Given the description of an element on the screen output the (x, y) to click on. 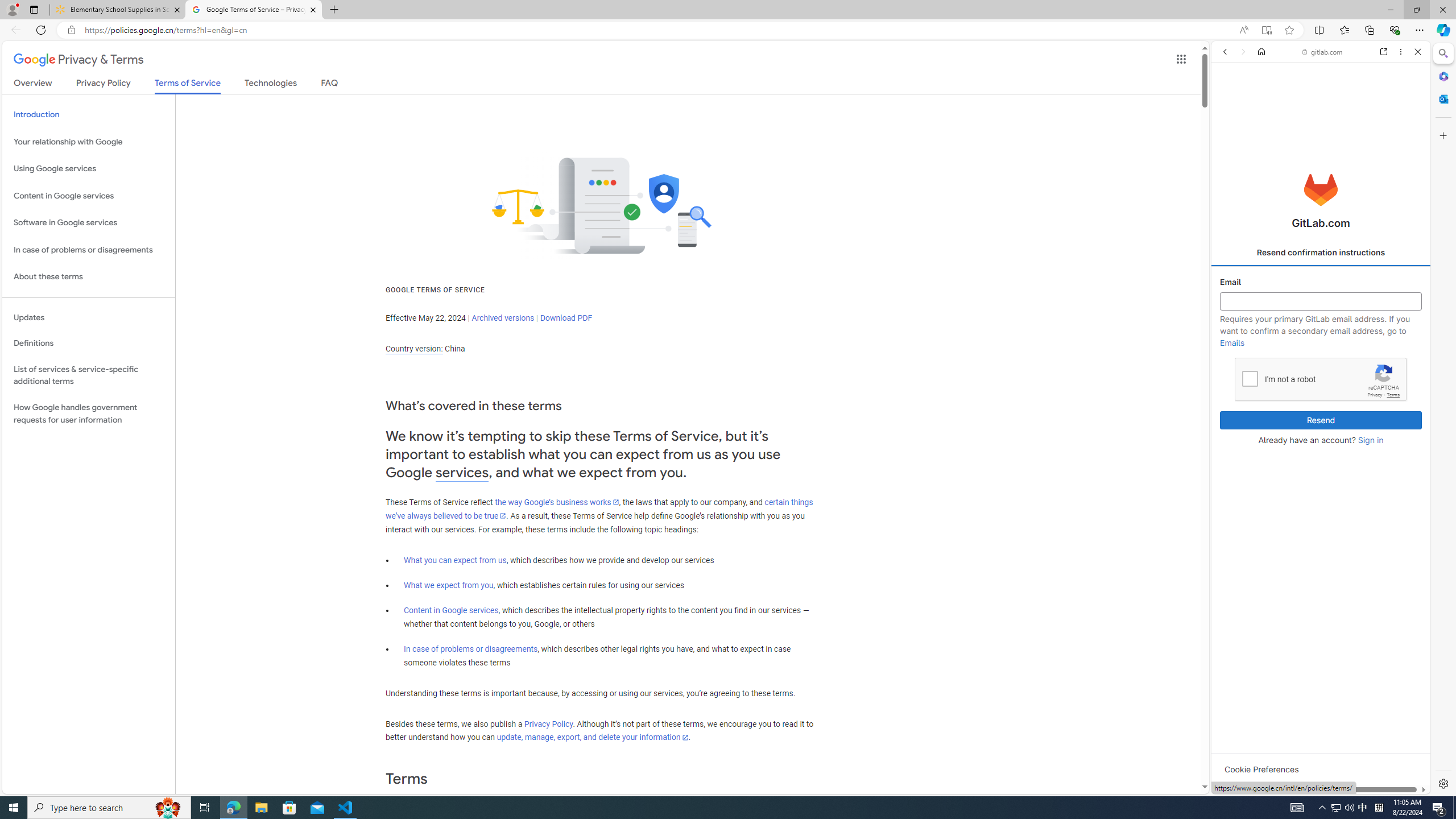
Archived versions (502, 317)
What you can expect from us (454, 560)
Login (1320, 281)
